Given the description of an element on the screen output the (x, y) to click on. 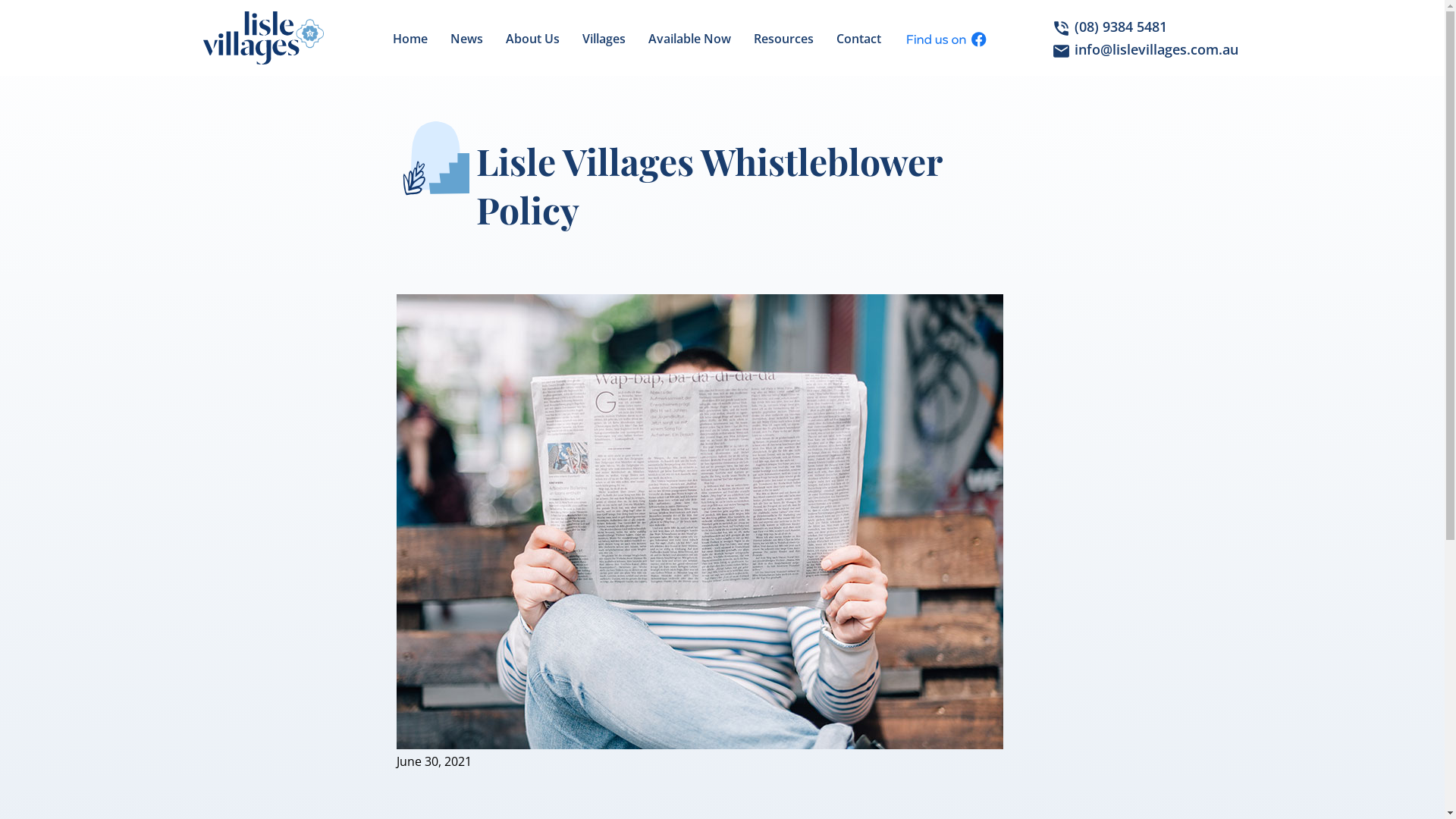
About Us Element type: text (532, 38)
Home Element type: text (409, 38)
Villages Element type: text (603, 38)
(08) 9384 5481 Element type: text (1144, 26)
Contact Element type: text (858, 38)
Resources Element type: text (783, 38)
News Element type: text (466, 38)
info@lislevillages.com.au Element type: text (1144, 48)
Available Now Element type: text (689, 38)
